Given the description of an element on the screen output the (x, y) to click on. 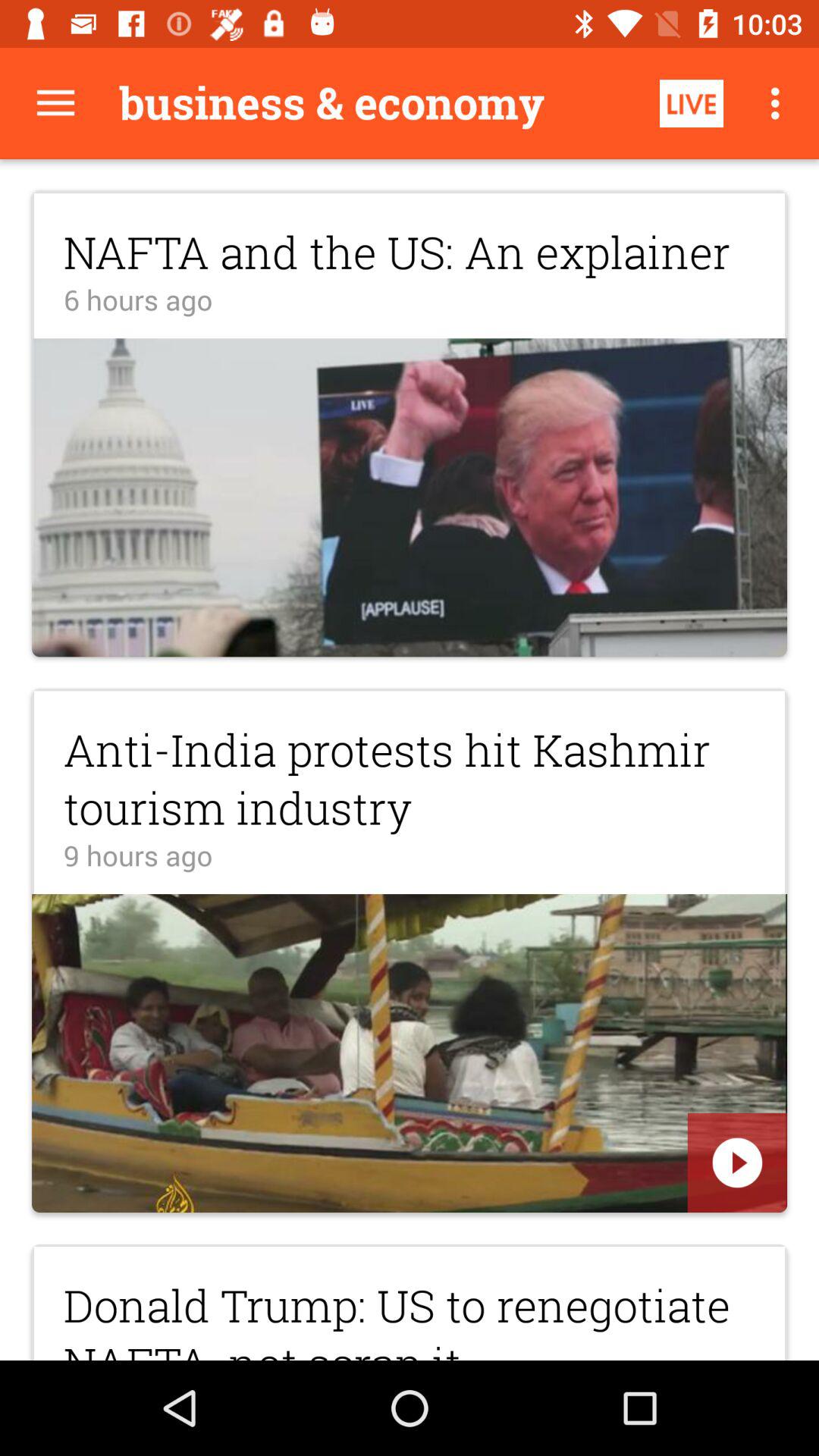
view all button (55, 103)
